Given the description of an element on the screen output the (x, y) to click on. 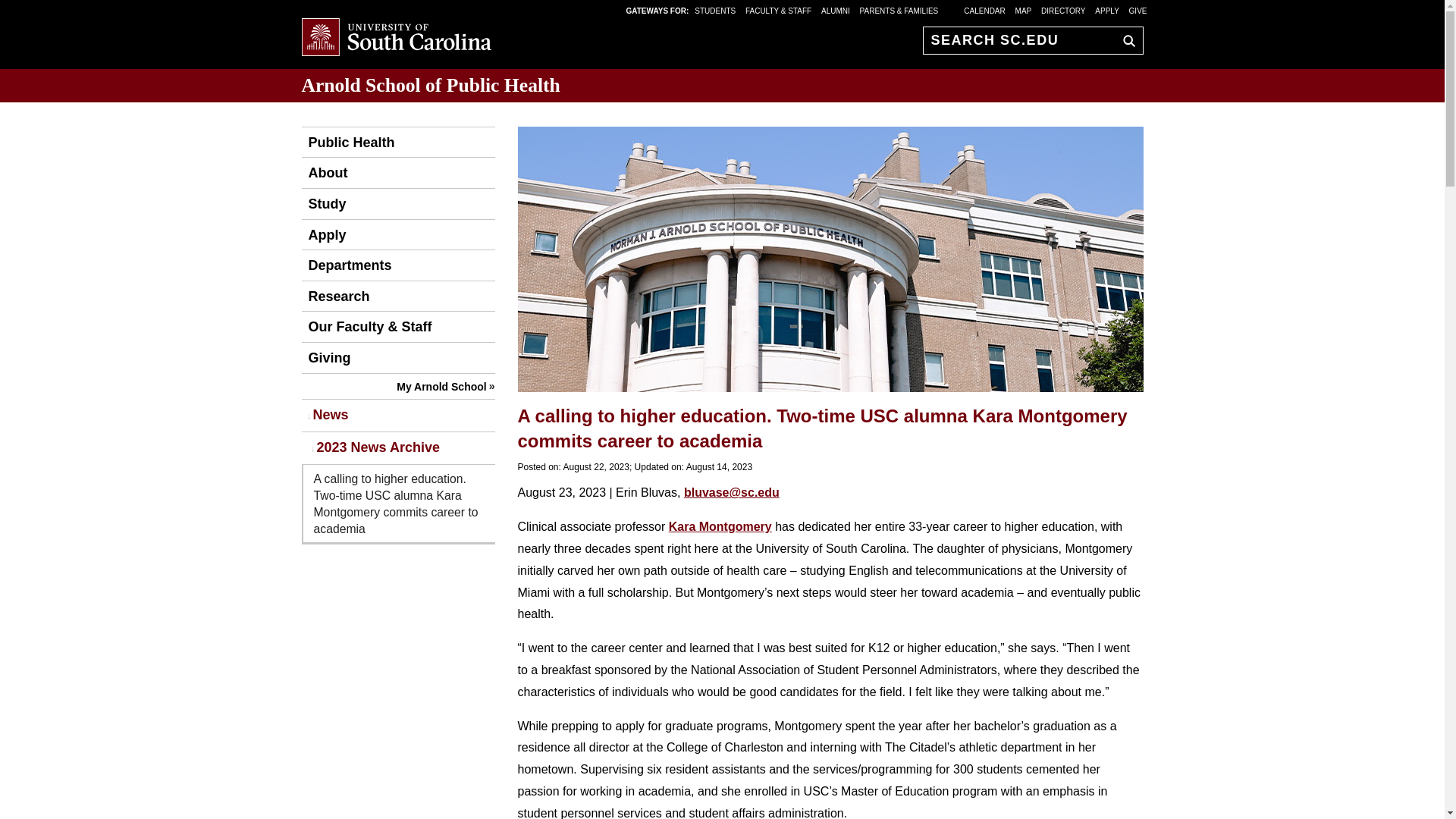
GIVE (1138, 9)
ALUMNI (835, 9)
STUDENTS (716, 9)
Public Health (347, 142)
sc.edu Search (1125, 40)
GO (1125, 40)
MAP (1023, 9)
CALENDAR (983, 9)
DIRECTORY (1063, 9)
University of South Carolina Home (396, 38)
